Given the description of an element on the screen output the (x, y) to click on. 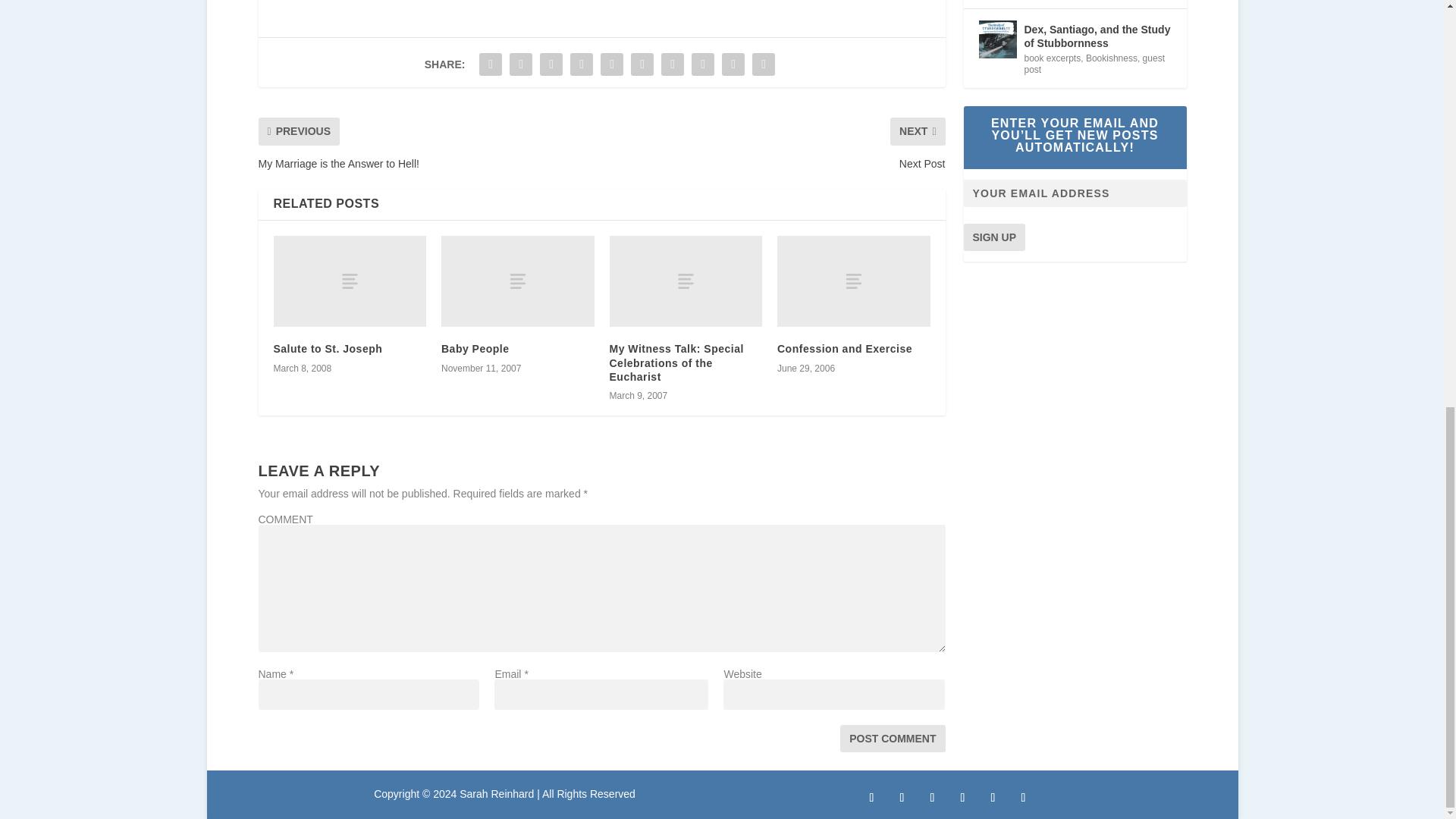
Share "Thoughts on Marriage" via Facebook (490, 64)
Salute to St. Joseph (327, 348)
Share "Thoughts on Marriage" via Twitter (520, 64)
Post Comment (892, 738)
Share "Thoughts on Marriage" via Buffer (672, 64)
Share "Thoughts on Marriage" via LinkedIn (642, 64)
Sign up (993, 236)
Share "Thoughts on Marriage" via Tumblr (581, 64)
Share "Thoughts on Marriage" via Email (732, 64)
Share "Thoughts on Marriage" via Stumbleupon (702, 64)
